Given the description of an element on the screen output the (x, y) to click on. 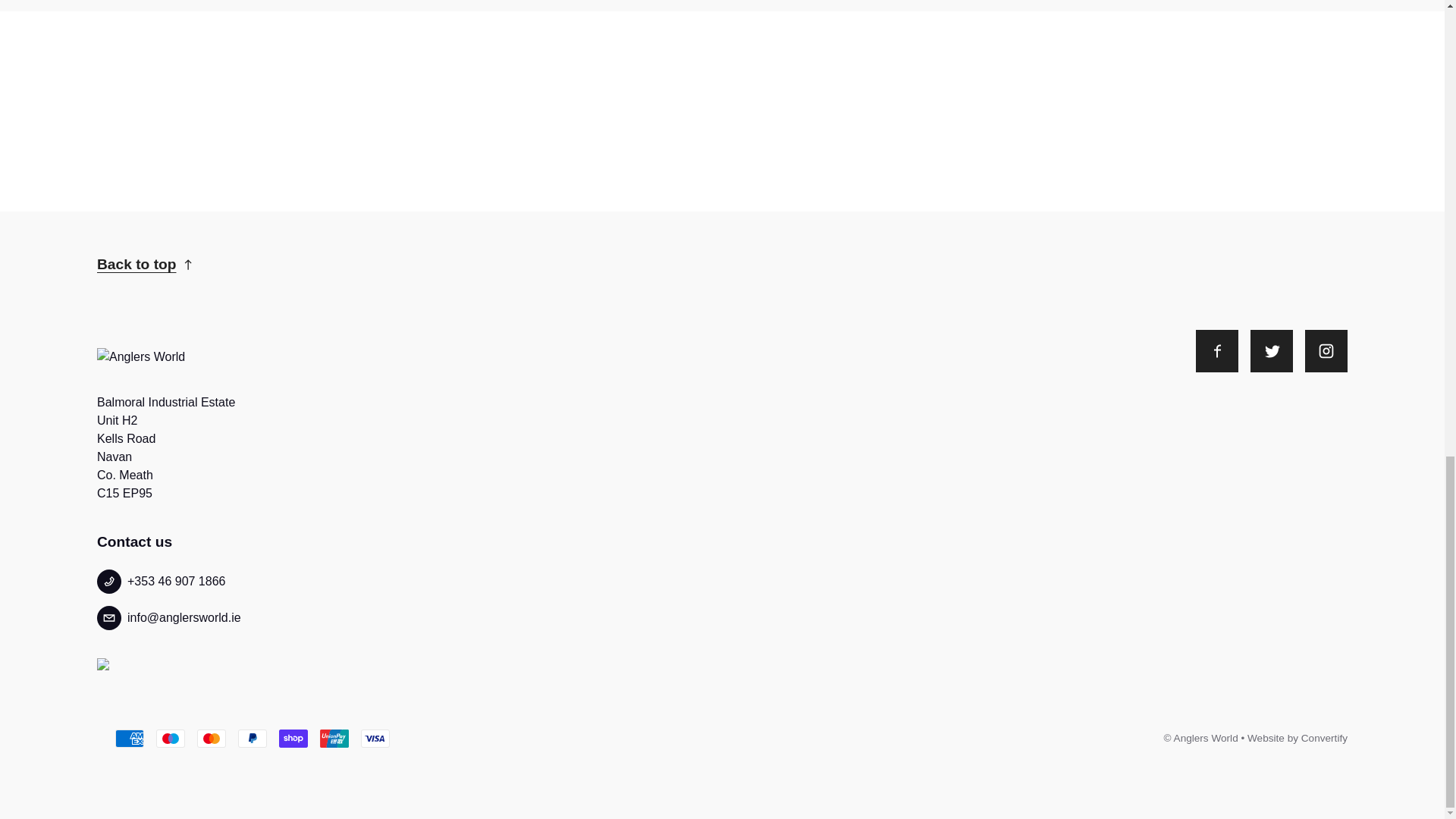
Instagram (1326, 351)
Twitter (1271, 351)
